Given the description of an element on the screen output the (x, y) to click on. 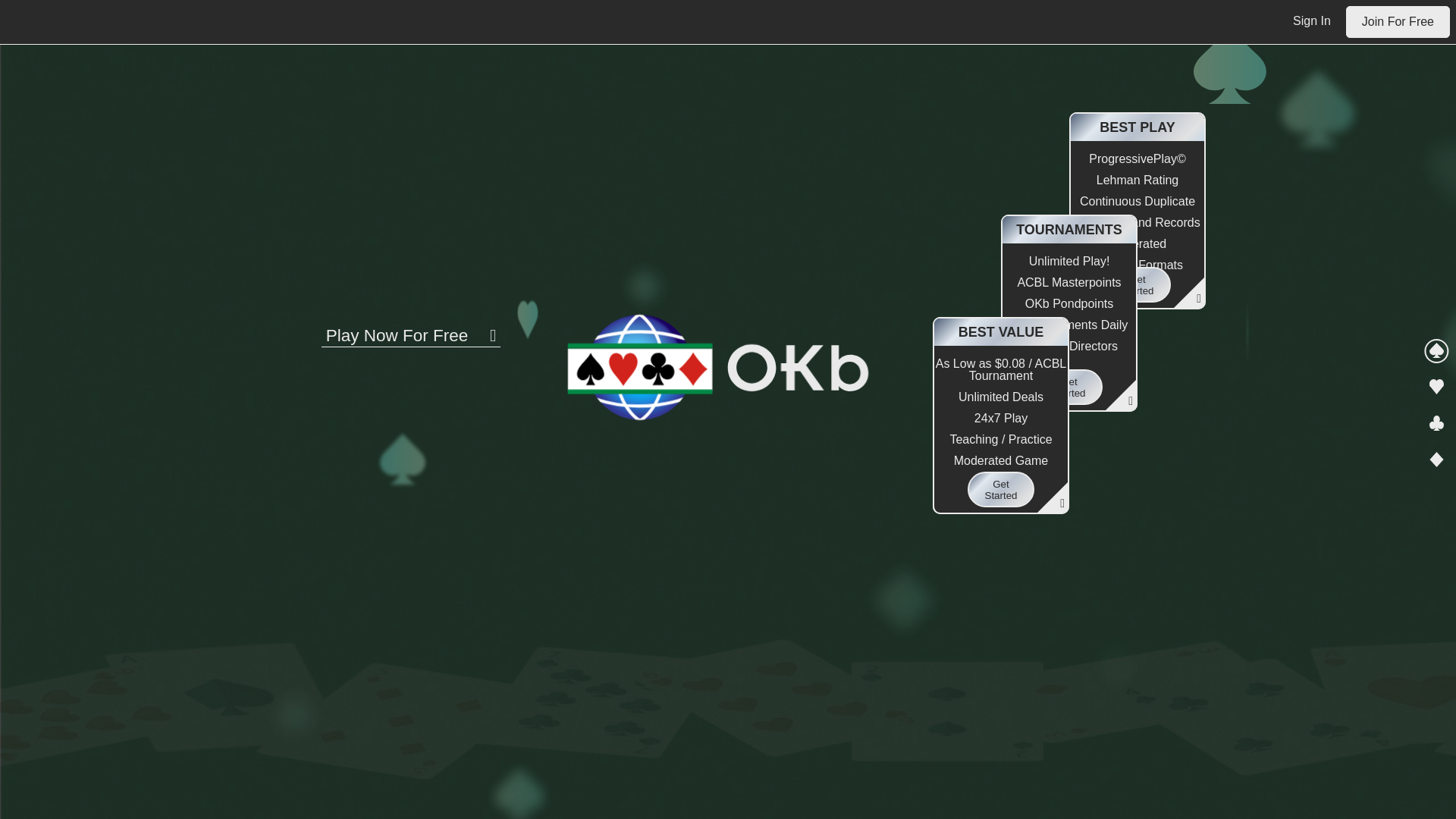
Play Now For Free (411, 326)
Join For Free (1397, 21)
Get Started (1000, 481)
Get Started (1068, 379)
Play Now For Free (410, 327)
Get Started (1136, 276)
Sign In (1311, 20)
